Given the description of an element on the screen output the (x, y) to click on. 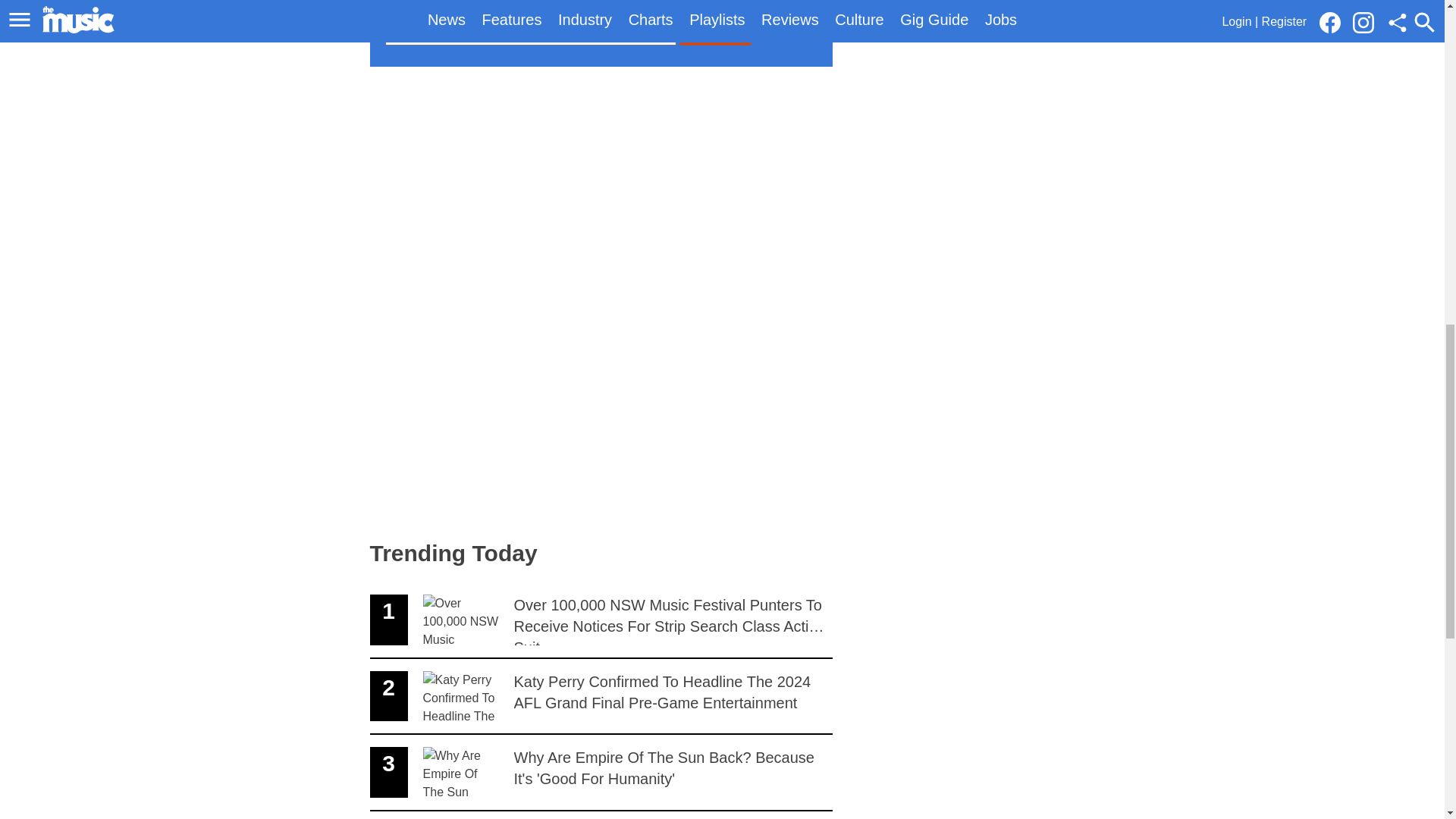
Subscribe (600, 815)
